Given the description of an element on the screen output the (x, y) to click on. 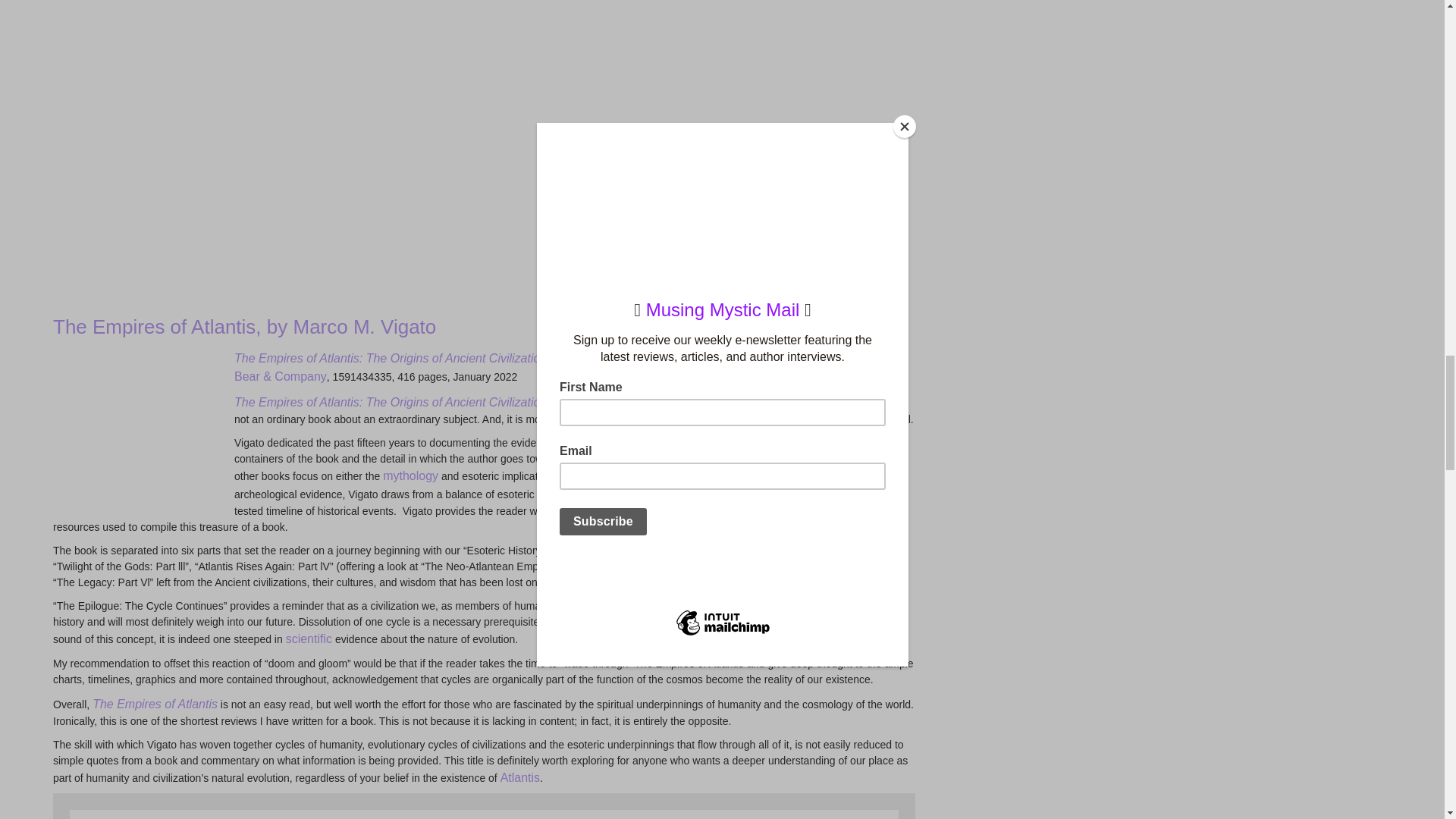
Permalink to The Empires of Atlantis, by Marco M. Vigato (243, 326)
The Empires of Atlantis, by Marco M. Vigato (243, 326)
